Given the description of an element on the screen output the (x, y) to click on. 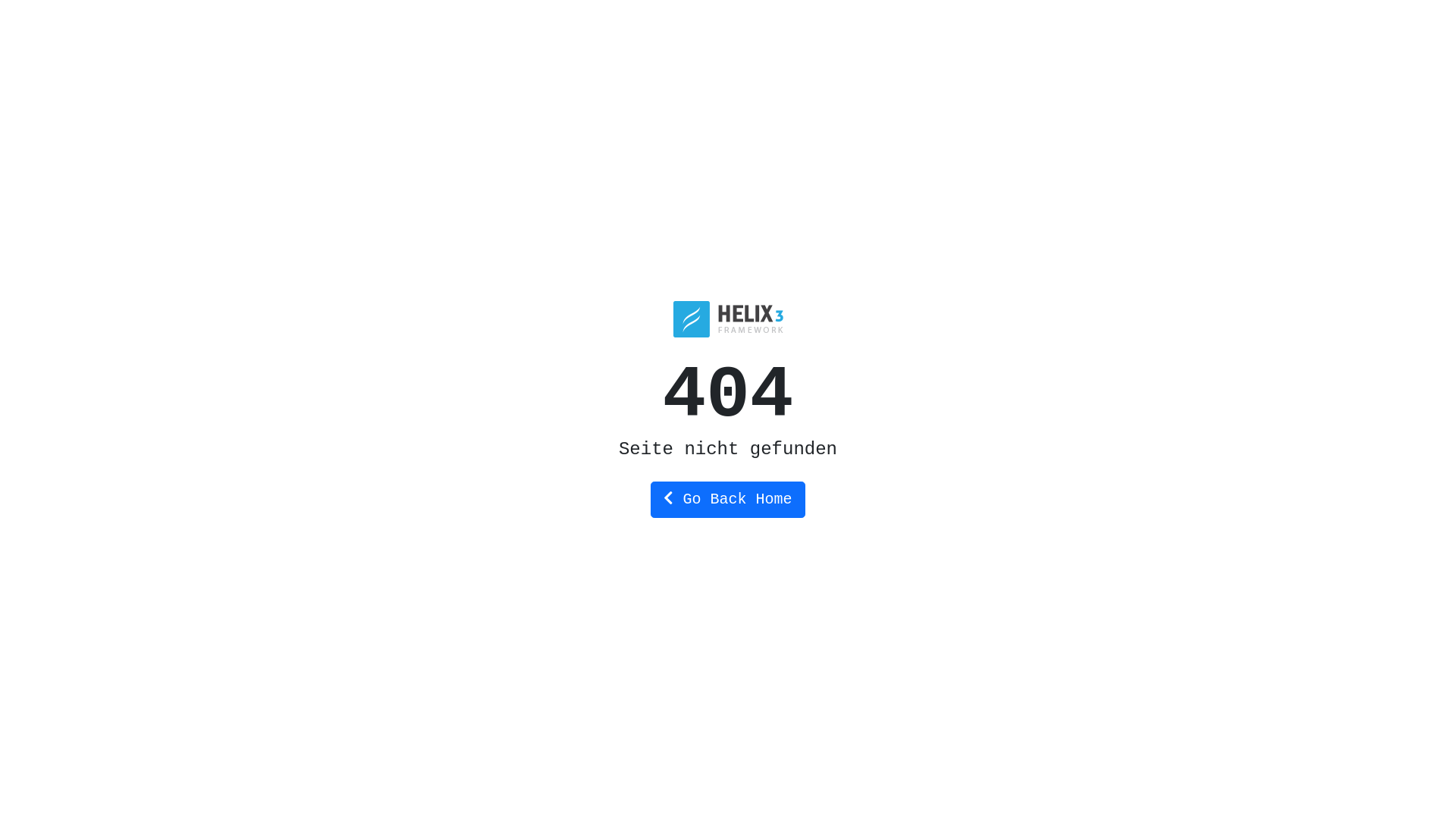
Go Back Home Element type: text (727, 499)
